Given the description of an element on the screen output the (x, y) to click on. 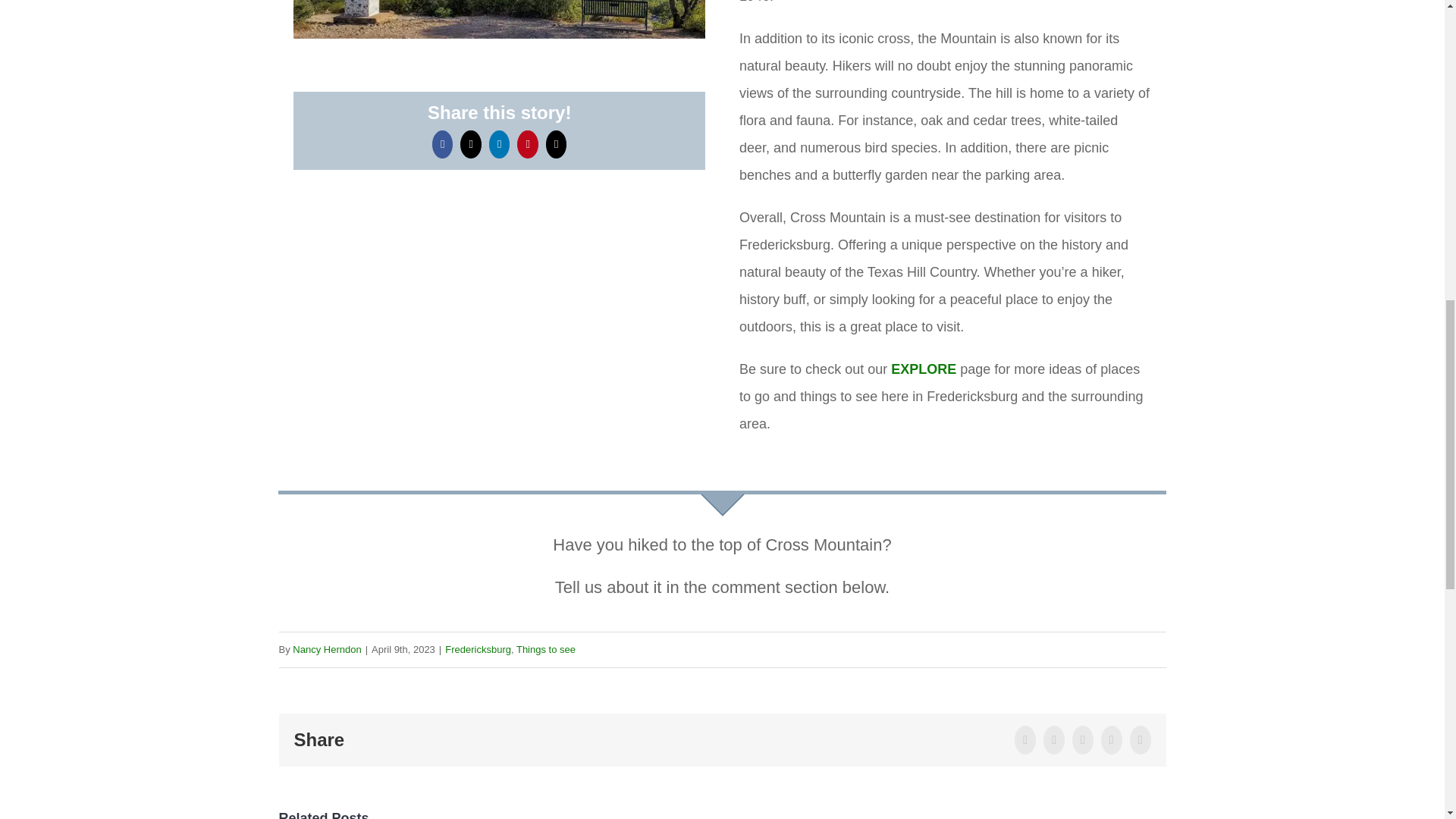
Posts by Nancy Herndon (326, 649)
Cross Mountain (499, 19)
